Given the description of an element on the screen output the (x, y) to click on. 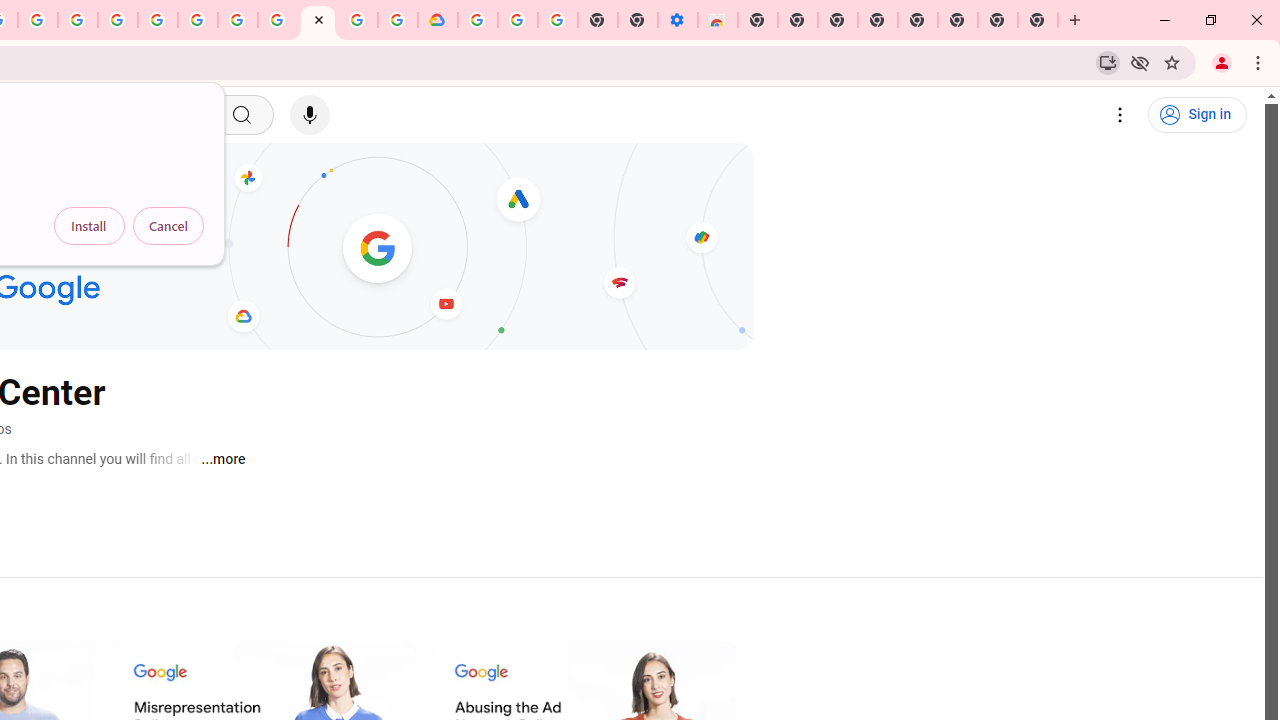
New Tab (1037, 20)
Sign in - Google Accounts (477, 20)
Search with your voice (309, 115)
Browse the Google Chrome Community - Google Chrome Community (397, 20)
Install YouTube (1107, 62)
Chrome Web Store - Accessibility extensions (717, 20)
Create your Google Account (37, 20)
Google Account Help (517, 20)
